Given the description of an element on the screen output the (x, y) to click on. 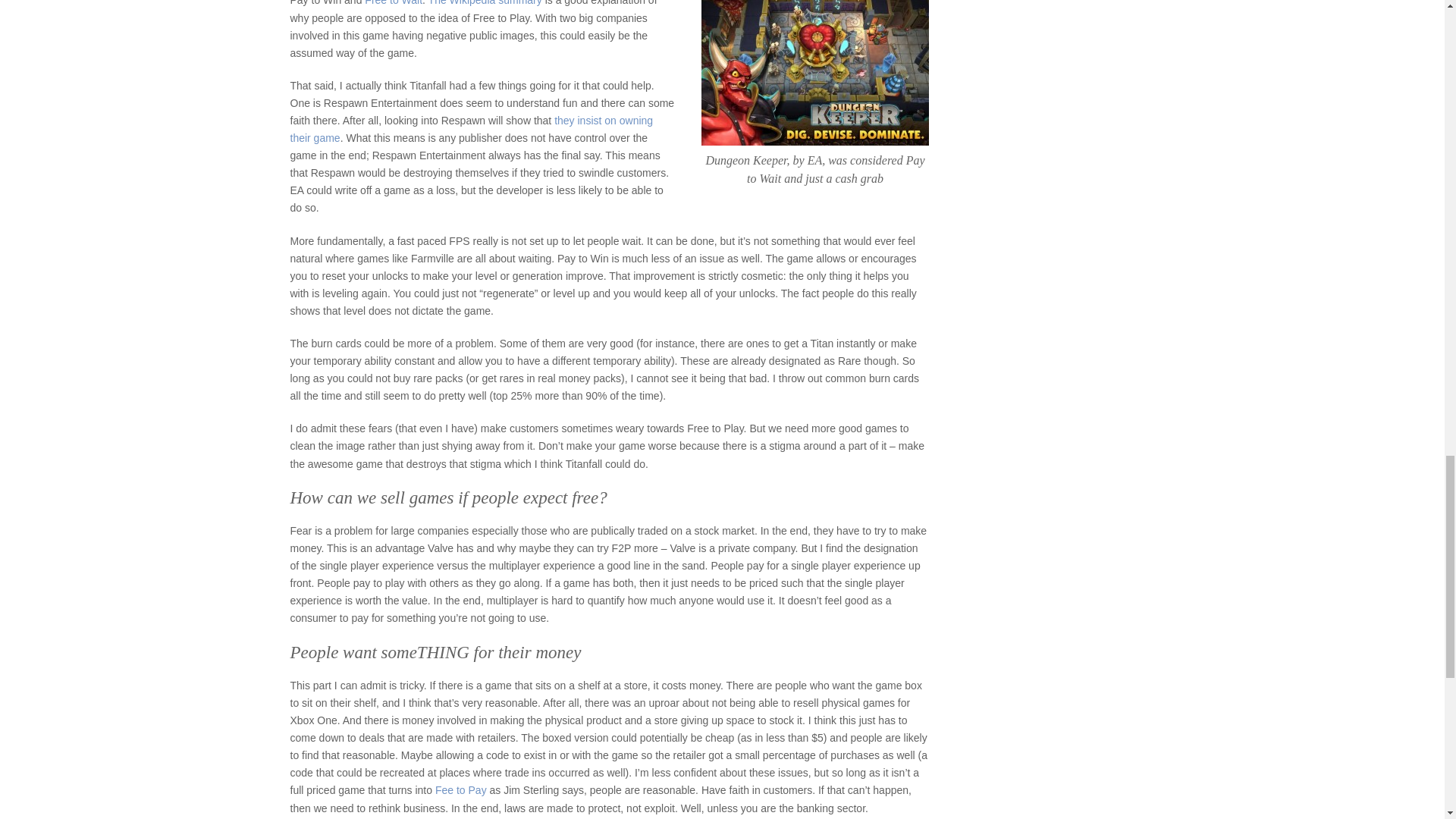
The Wikipedia summary (484, 2)
they insist on owning their game (470, 129)
Free to Wait (393, 2)
Fee to Pay (460, 789)
